Given the description of an element on the screen output the (x, y) to click on. 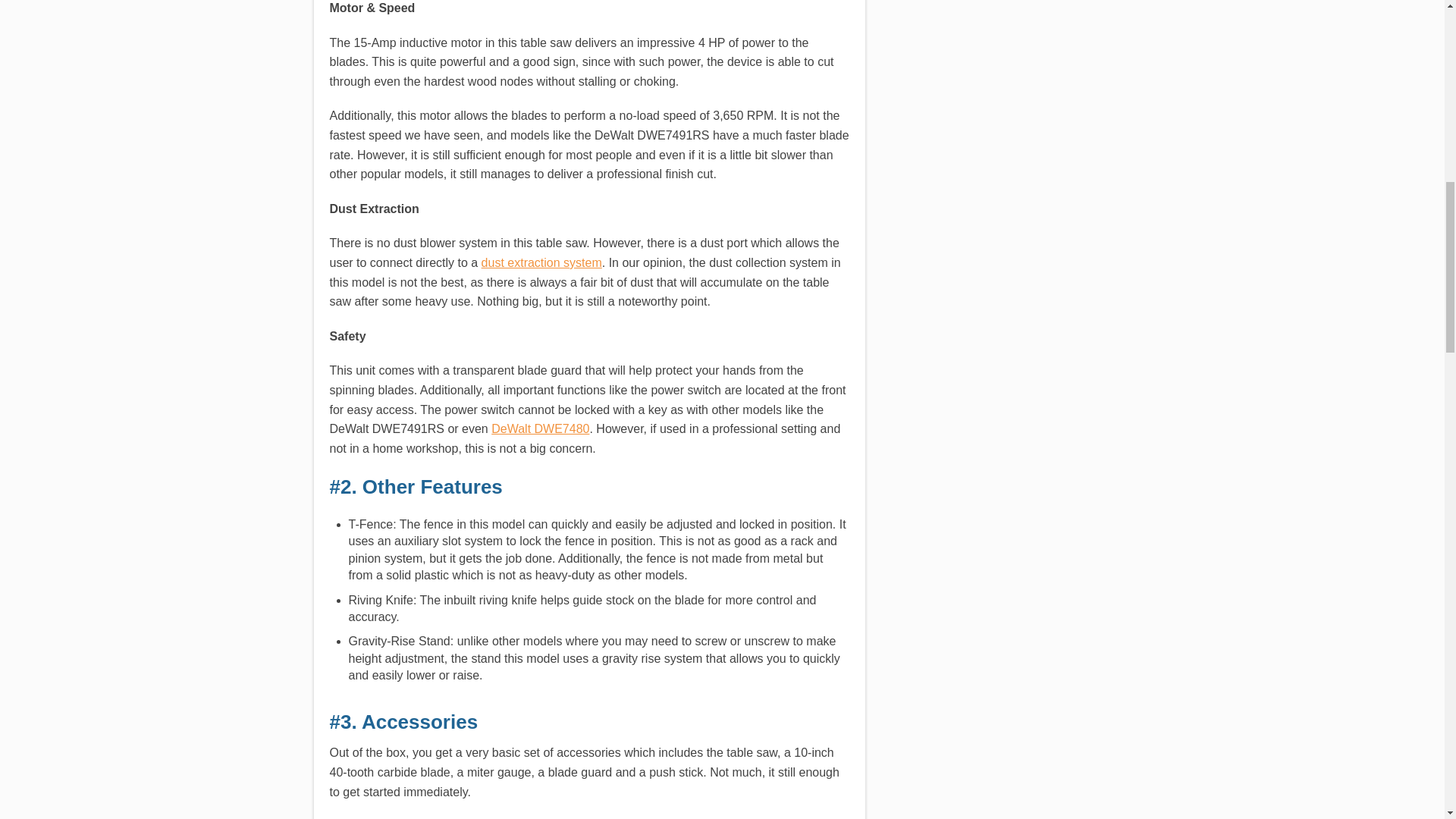
dust extraction system (541, 262)
DeWalt DWE7480 (540, 428)
